Given the description of an element on the screen output the (x, y) to click on. 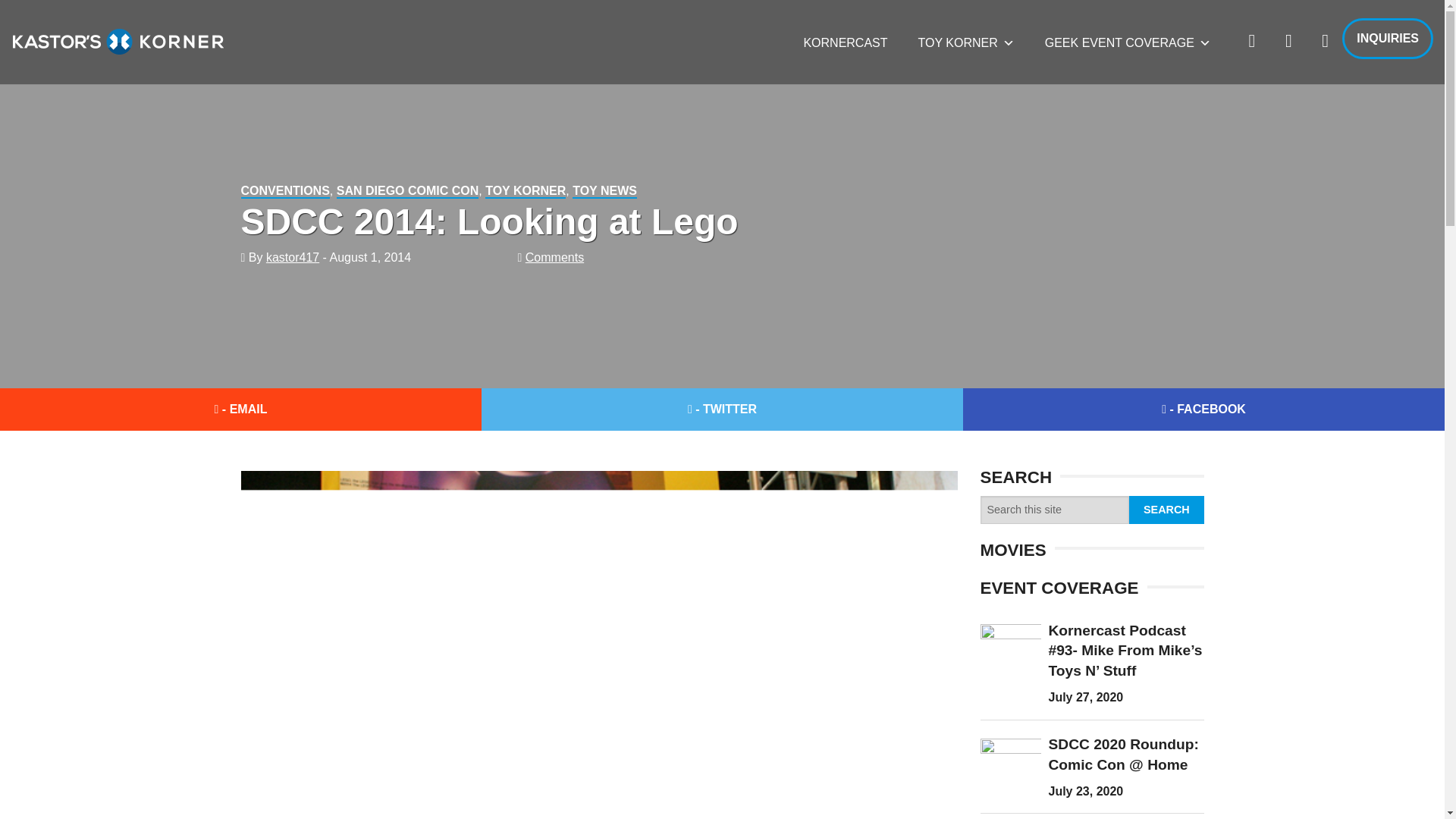
TOY KORNER (525, 191)
Kastors Korner (117, 41)
TOY NEWS (604, 191)
- TWITTER (721, 409)
CONVENTIONS (285, 191)
GEEK EVENT COVERAGE (1127, 42)
TOY KORNER (965, 42)
INQUIRIES (1387, 38)
SAN DIEGO COMIC CON (407, 191)
Search (1166, 510)
